Given the description of an element on the screen output the (x, y) to click on. 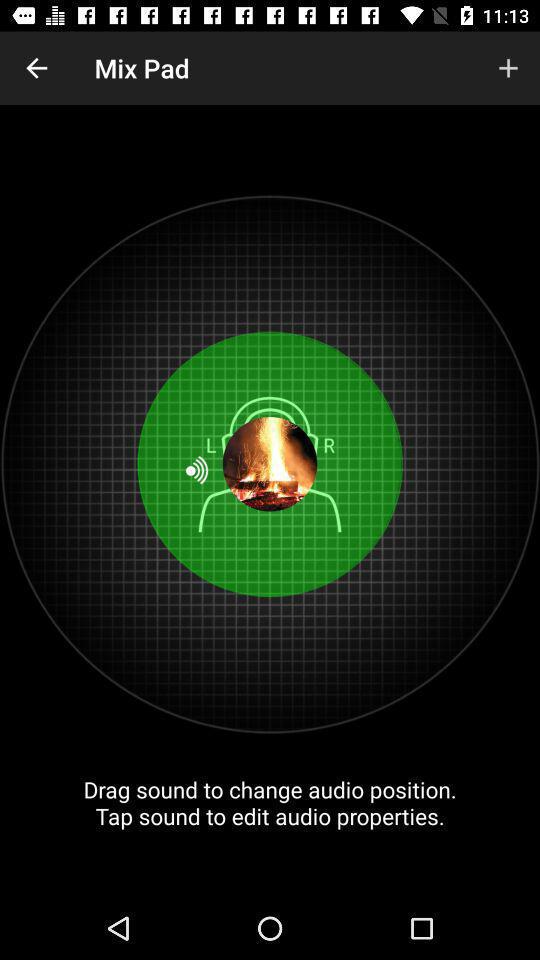
open the item above drag sound to icon (508, 67)
